Given the description of an element on the screen output the (x, y) to click on. 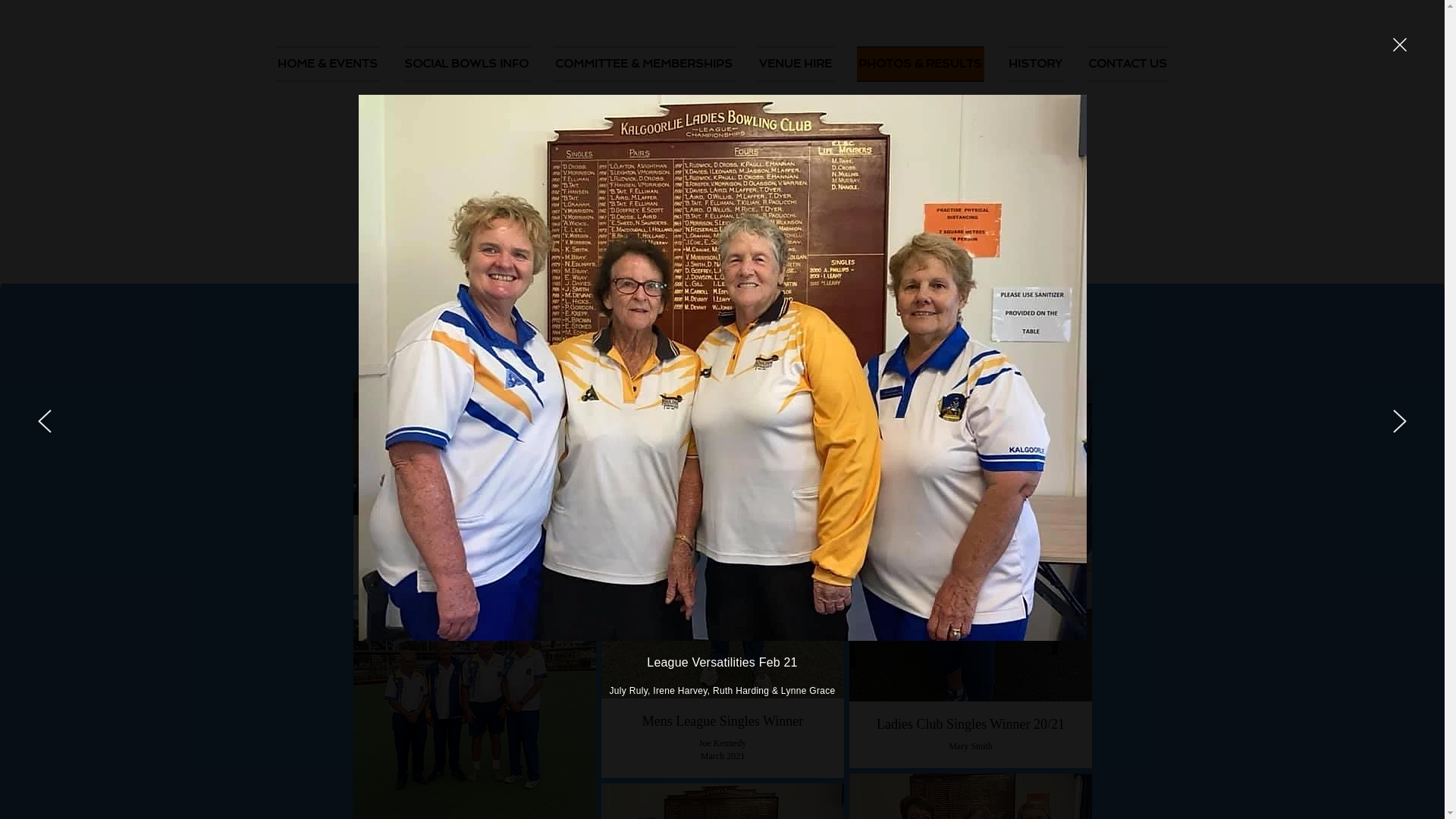
PHOTOS & RESULTS Element type: text (919, 63)
COMMITTEE & MEMBERSHIPS Element type: text (643, 63)
HOME & EVENTS Element type: text (333, 63)
K
A
L
G
O
O
R
L
I
E
B
U
L
C
G
N
I
L
W
O
B
EST. 1905 Element type: text (395, 148)
SOCIAL BOWLS INFO Element type: text (466, 63)
HISTORY Element type: text (1034, 63)
VENUE HIRE Element type: text (795, 63)
CONTACT US Element type: text (1122, 63)
